Given the description of an element on the screen output the (x, y) to click on. 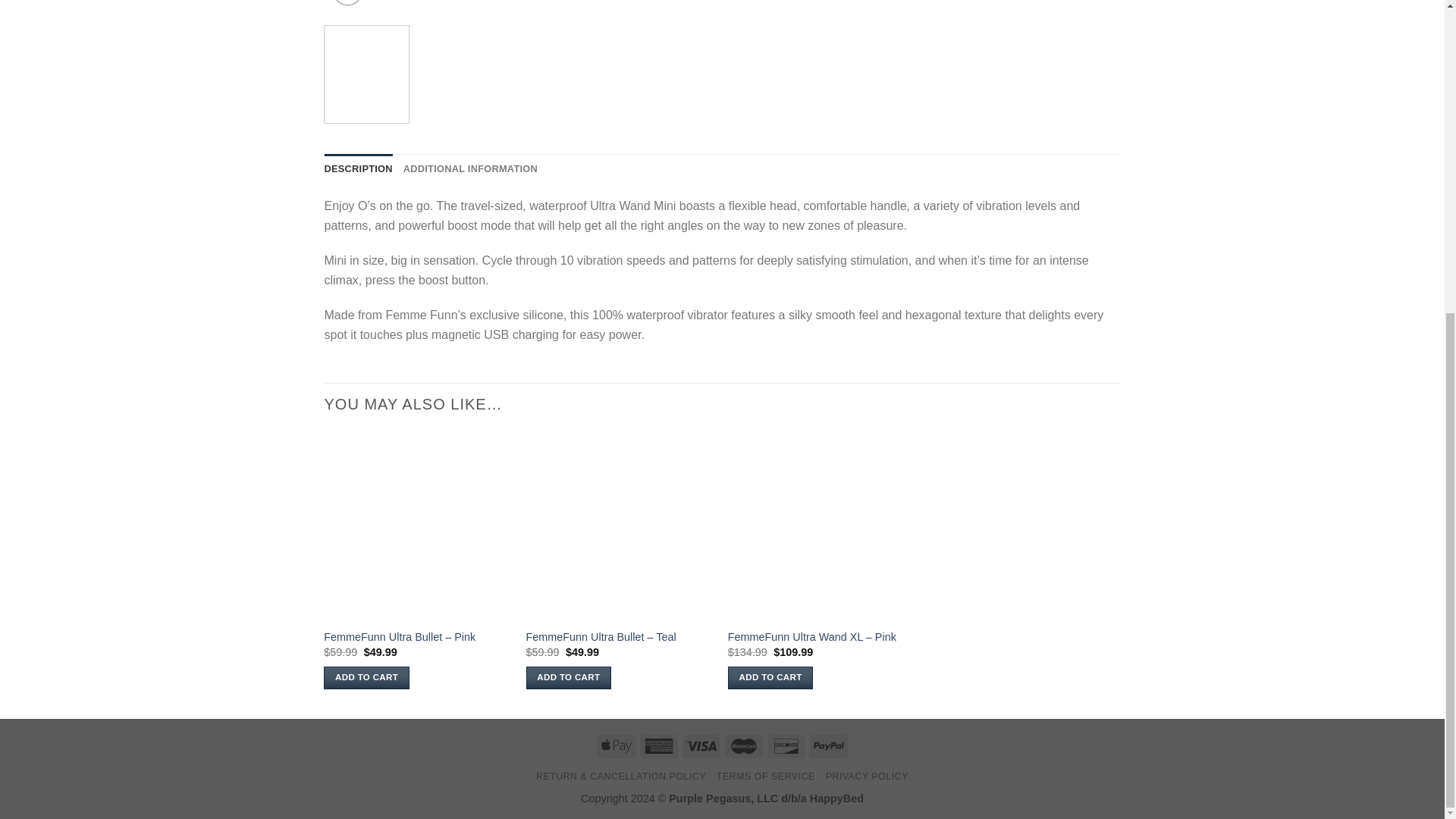
Zoom (347, 2)
